Given the description of an element on the screen output the (x, y) to click on. 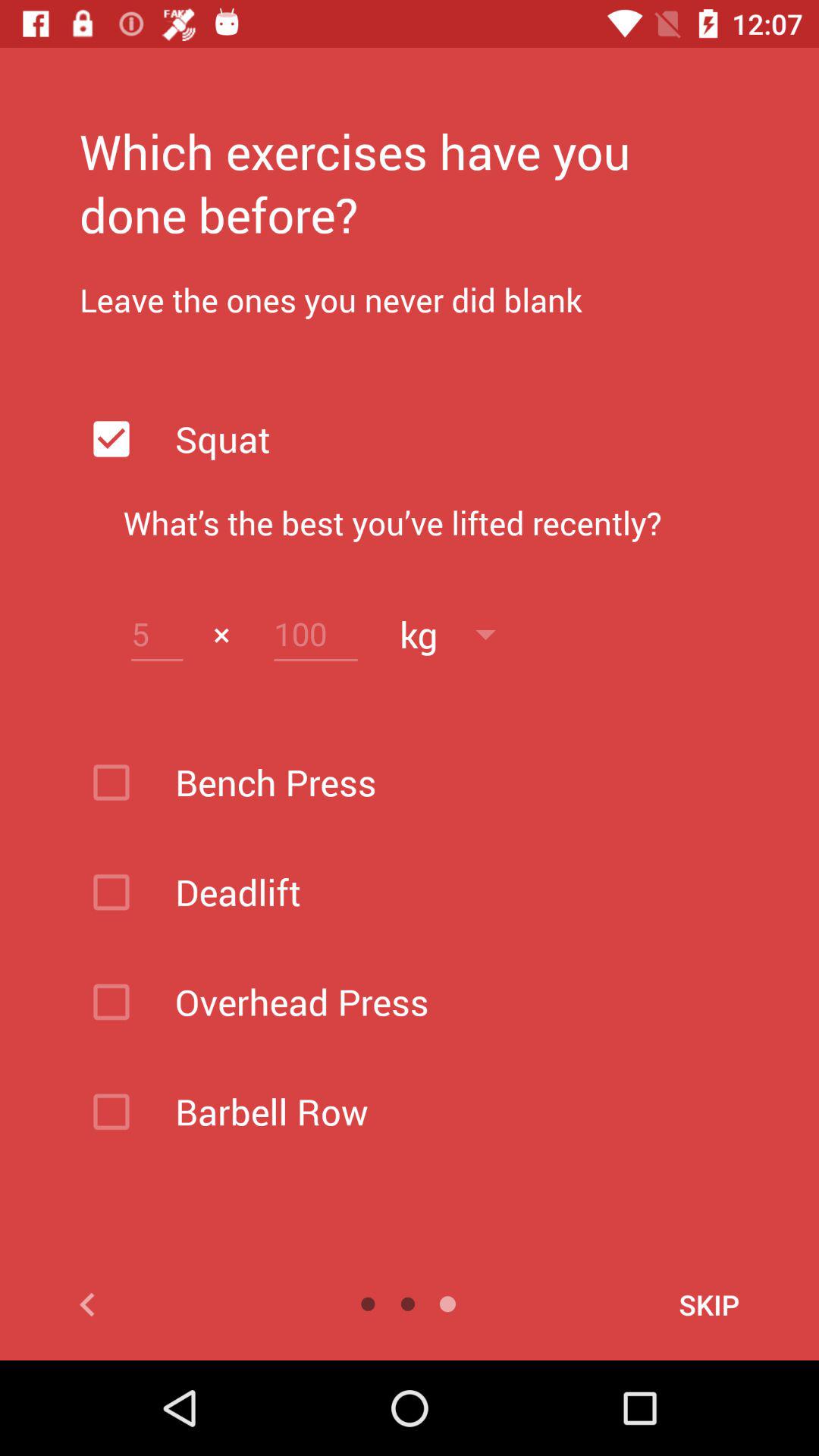
text box to enter number (157, 634)
